Given the description of an element on the screen output the (x, y) to click on. 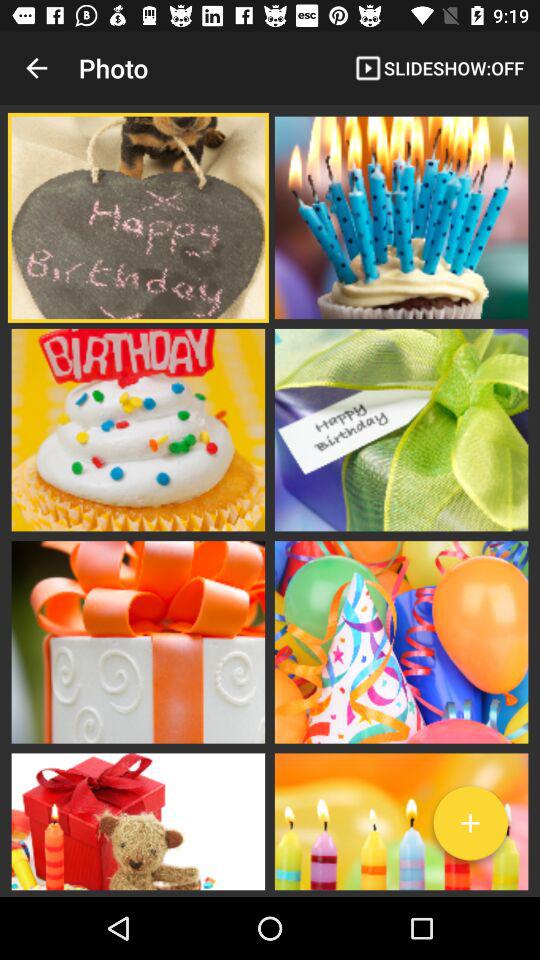
turn off icon on the left (137, 430)
